Given the description of an element on the screen output the (x, y) to click on. 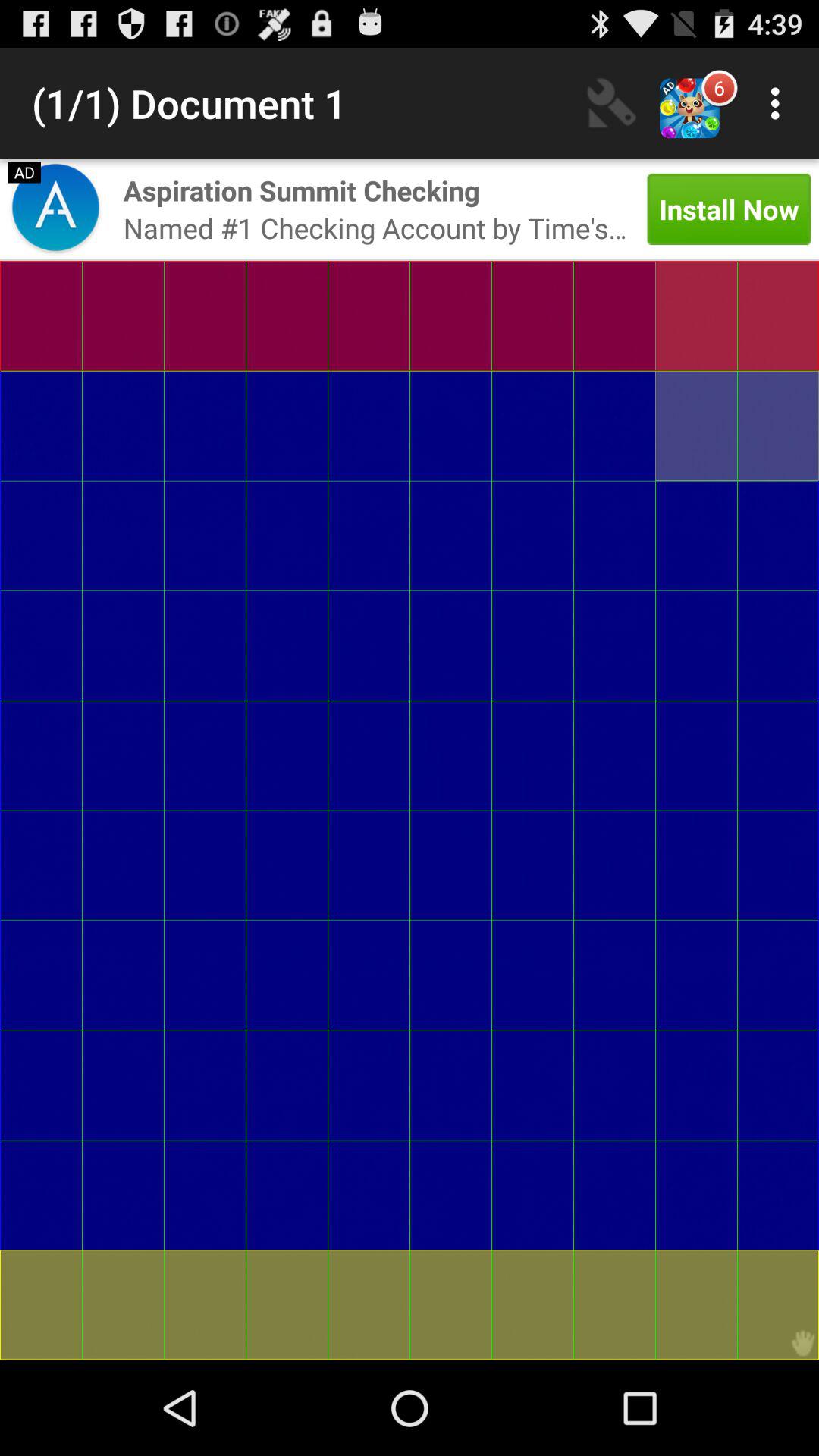
click install now (729, 209)
